Given the description of an element on the screen output the (x, y) to click on. 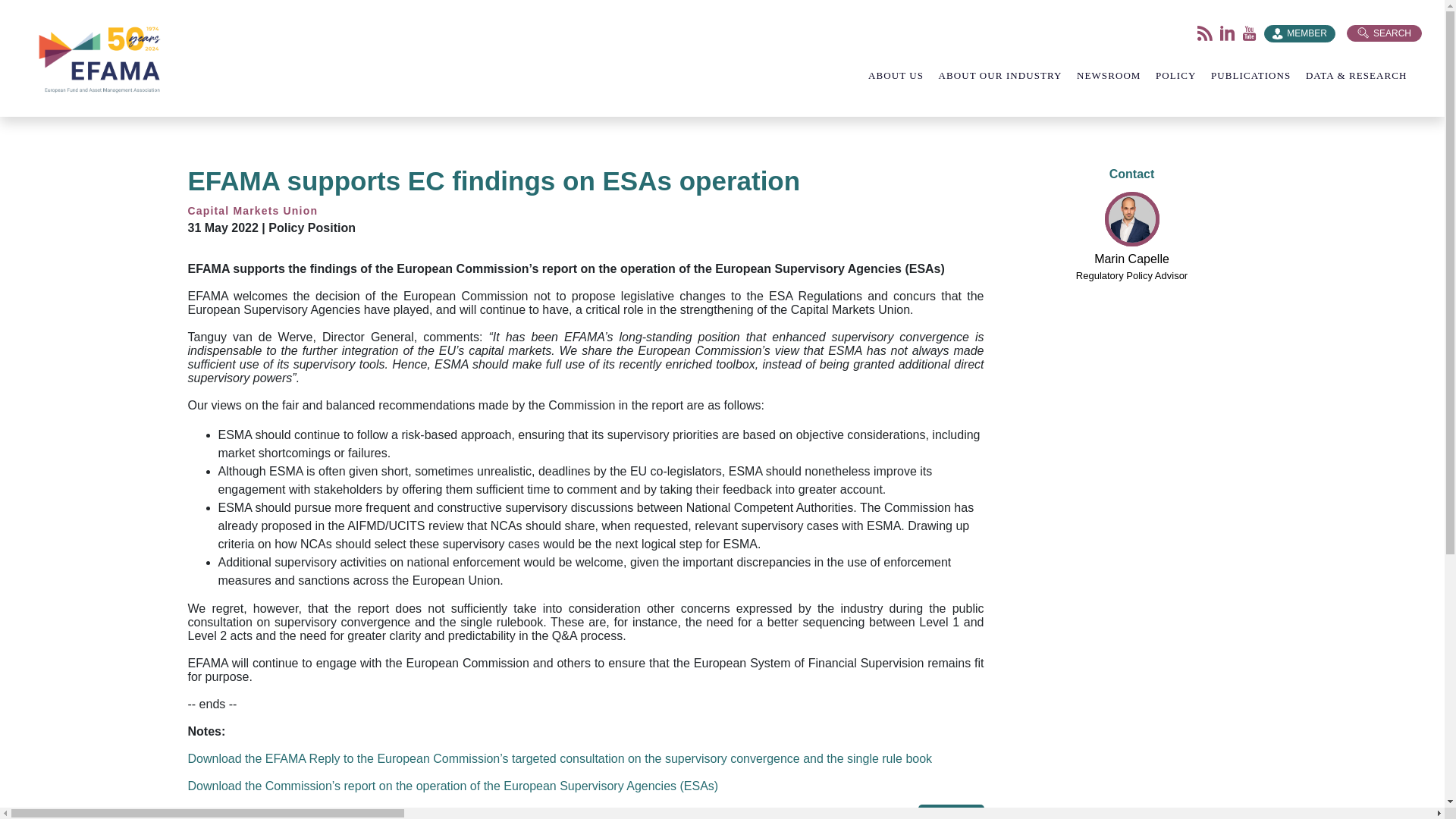
ABOUT US (903, 75)
apply (24, 15)
LinkedIn (1227, 32)
ABOUT OUR INDUSTRY (1008, 75)
Flux rss (1204, 32)
Youtube (1249, 32)
POLICY (1183, 75)
EFAMA (101, 57)
NEWSROOM (1116, 75)
